Given the description of an element on the screen output the (x, y) to click on. 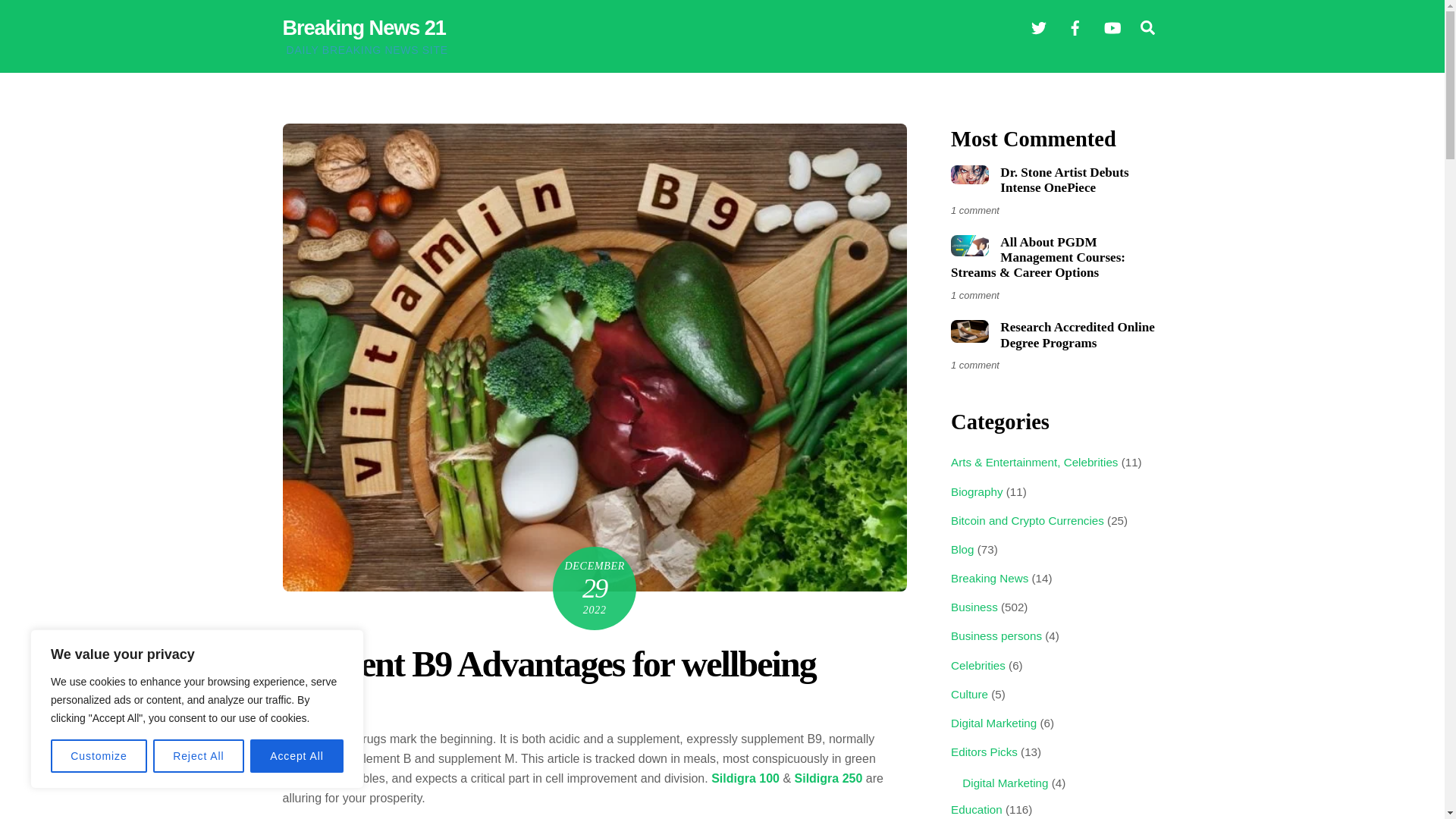
Breaking News 21 (363, 27)
Nutrient B9 Advantages for wellbeing (548, 663)
Dr. Stone Artist Debuts Intense OnePiece (969, 174)
Customize (98, 756)
Sildigra 250 (828, 778)
Search (1146, 27)
Accept All (296, 756)
Health (314, 708)
Reject All (198, 756)
